Given the description of an element on the screen output the (x, y) to click on. 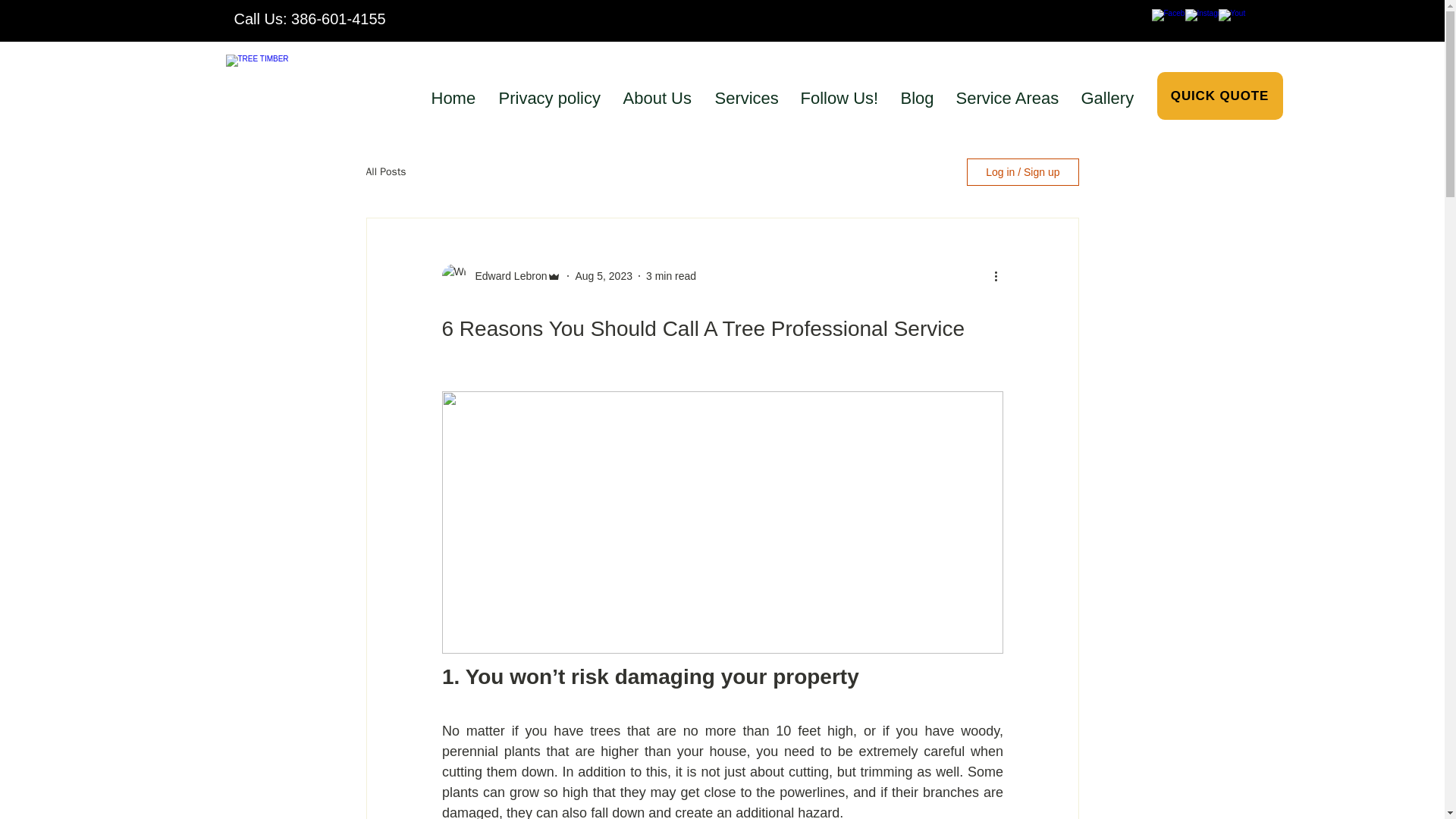
Home (455, 91)
Services (747, 91)
Gallery (1107, 91)
3 min read (670, 275)
QUICK QUOTE (1219, 95)
Privacy policy (549, 91)
Follow Us! (839, 91)
386-601-4155 (338, 18)
Edward Lebron (506, 276)
Aug 5, 2023 (603, 275)
